Given the description of an element on the screen output the (x, y) to click on. 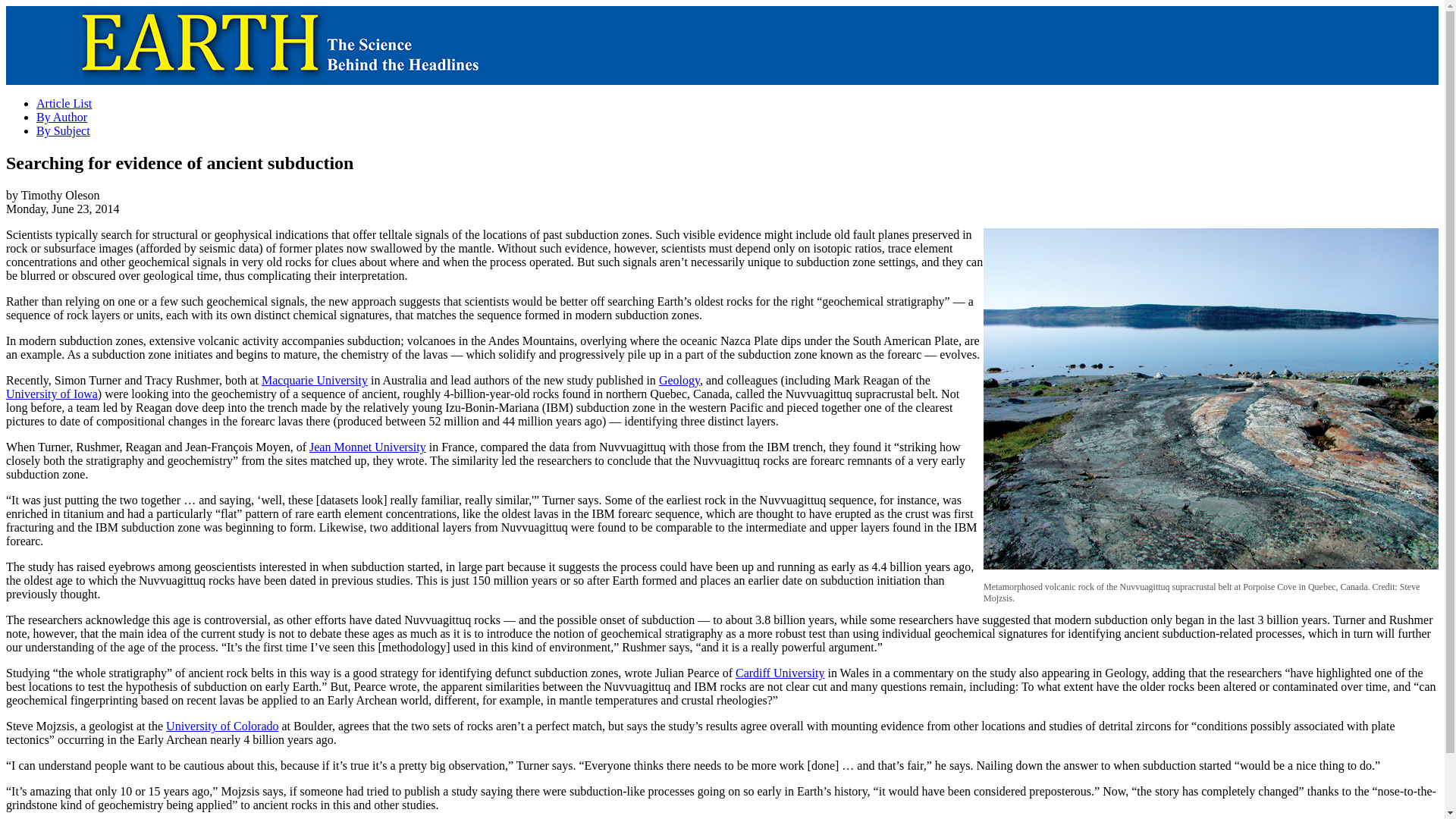
University of Colorado (221, 725)
Cardiff University (779, 672)
University of Iowa (51, 393)
Article List (63, 103)
By Author (61, 116)
Macquarie University (315, 379)
By Subject (63, 130)
Geology (679, 379)
Jean Monnet University (367, 446)
